Given the description of an element on the screen output the (x, y) to click on. 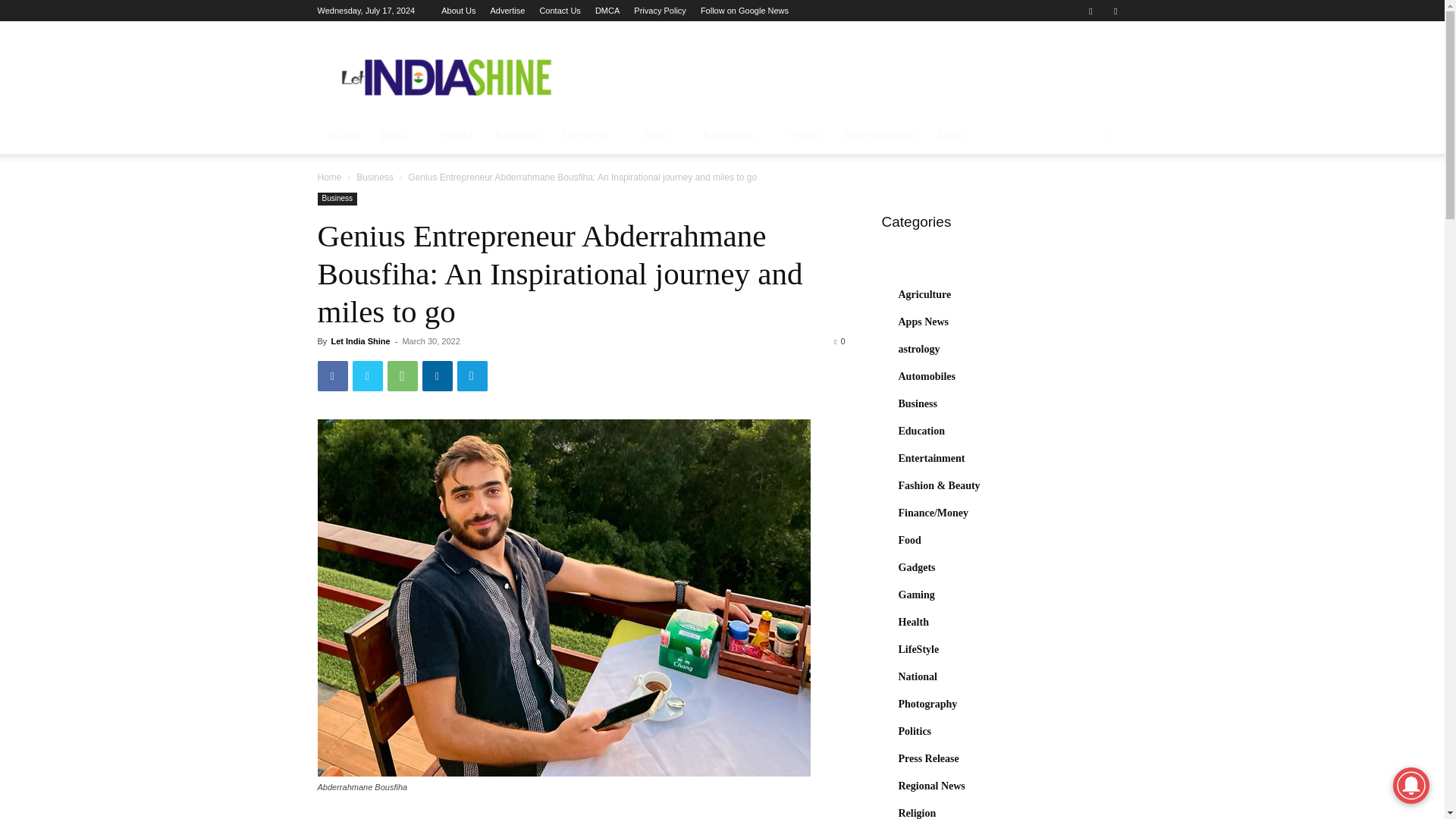
Facebook (1090, 10)
Facebook (332, 376)
Privacy Policy (659, 10)
Follow on Google News (744, 10)
Twitter (366, 376)
Advertise (506, 10)
DMCA (607, 10)
View all posts in Business (374, 176)
Linkedin (436, 376)
Twitter (1114, 10)
Telegram (471, 376)
Contact Us (558, 10)
About Us (458, 10)
WhatsApp (401, 376)
